Given the description of an element on the screen output the (x, y) to click on. 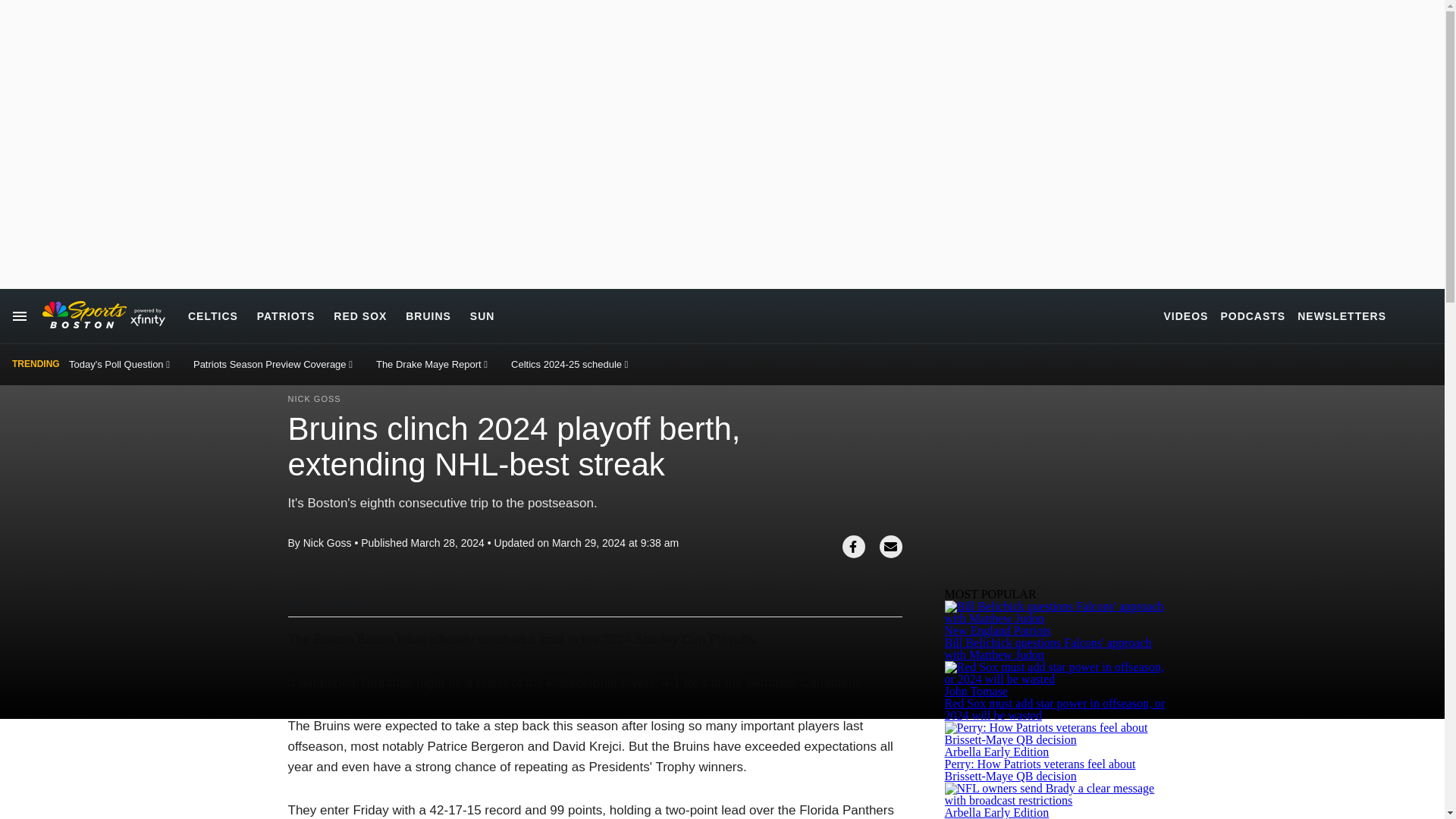
John Tomase (975, 690)
BRUINS (428, 315)
RED SOX (360, 315)
New England Patriots (997, 630)
PATRIOTS (286, 315)
VIDEOS (1185, 315)
Nick Goss (327, 542)
CELTICS (212, 315)
PODCASTS (1252, 315)
